Given the description of an element on the screen output the (x, y) to click on. 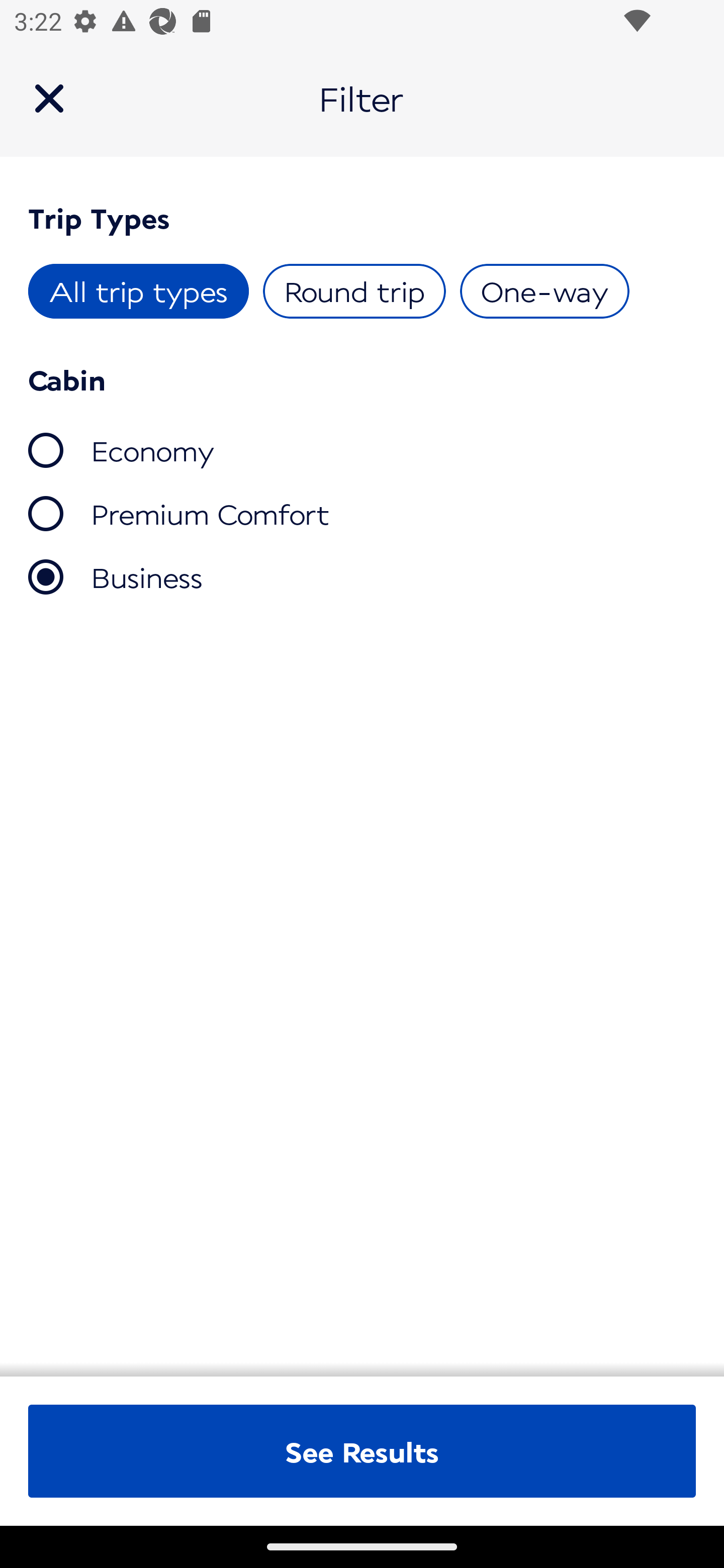
All trip types (138, 291)
Round trip (353, 291)
One-way (544, 291)
See Results (361, 1450)
